Given the description of an element on the screen output the (x, y) to click on. 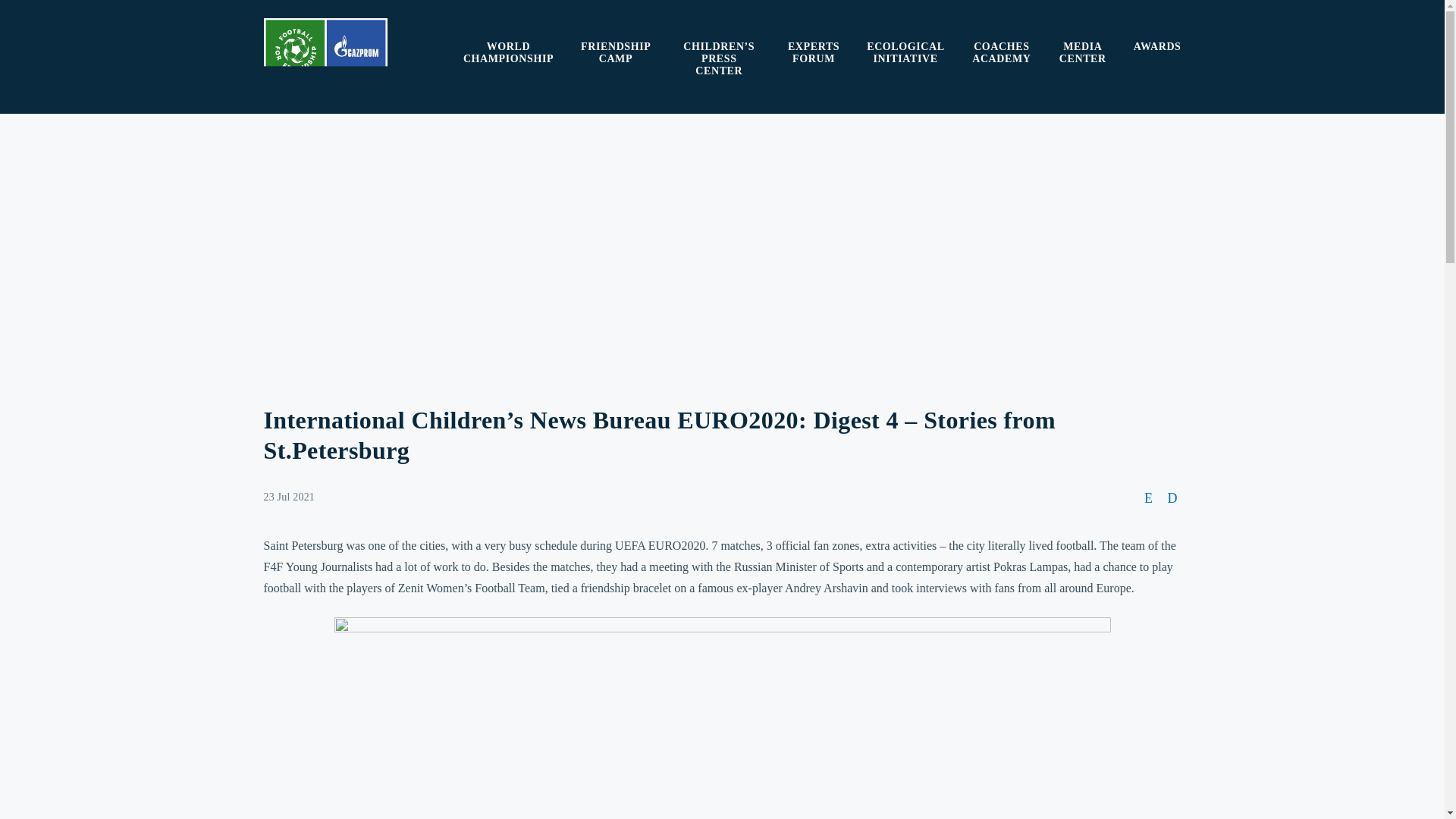
FRIENDSHIP CAMP (615, 52)
AWARDS (1157, 46)
ECOLOGICAL INITIATIVE (904, 52)
EXPERTS FORUM (813, 52)
COACHES ACADEMY (1001, 52)
WORLD CHAMPIONSHIP (508, 52)
MEDIA CENTER (1082, 52)
